Given the description of an element on the screen output the (x, y) to click on. 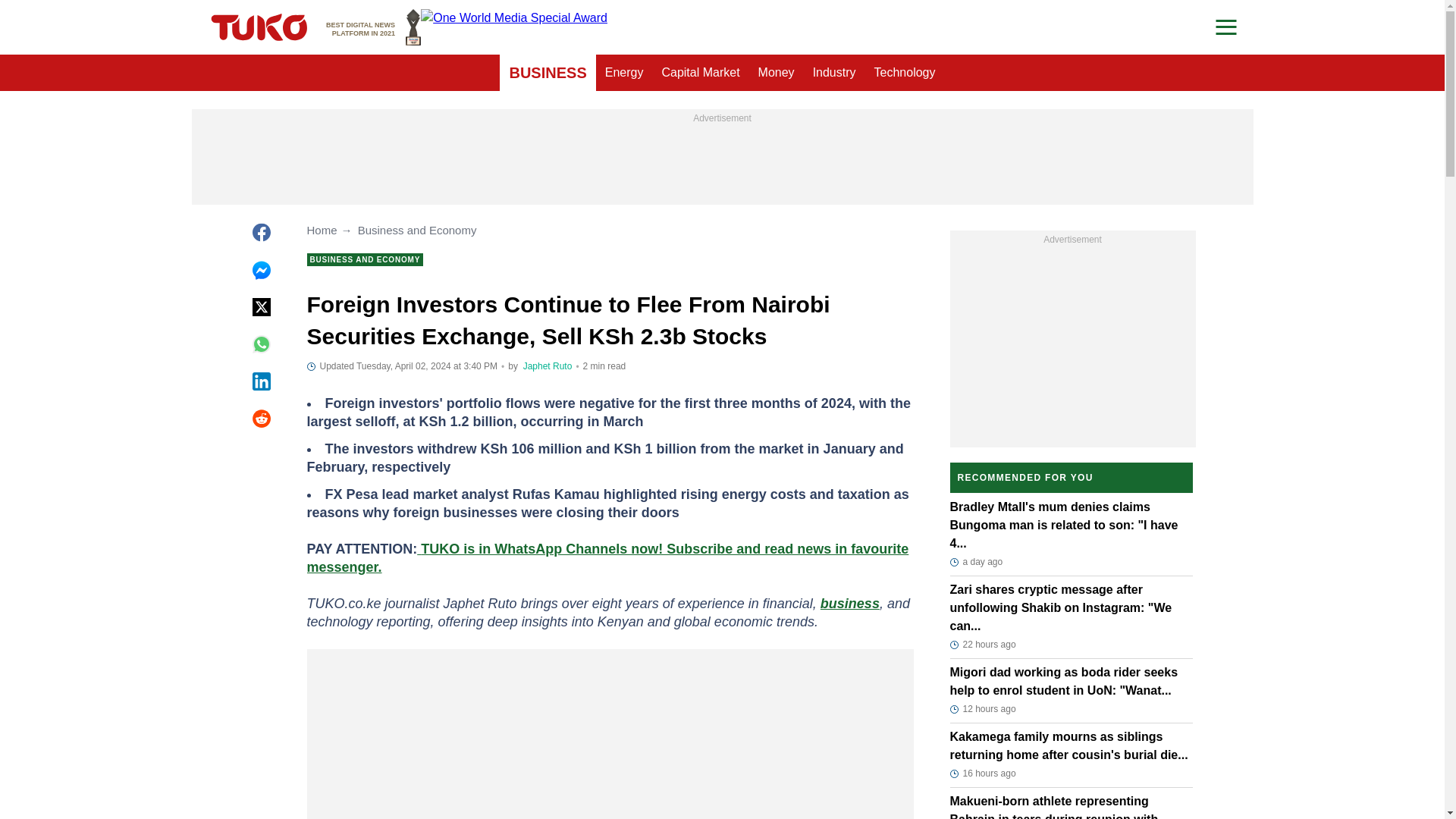
Technology (904, 72)
Author page (547, 366)
Capital Market (700, 72)
Energy (623, 72)
Industry (833, 72)
Money (776, 72)
BUSINESS (373, 27)
